Given the description of an element on the screen output the (x, y) to click on. 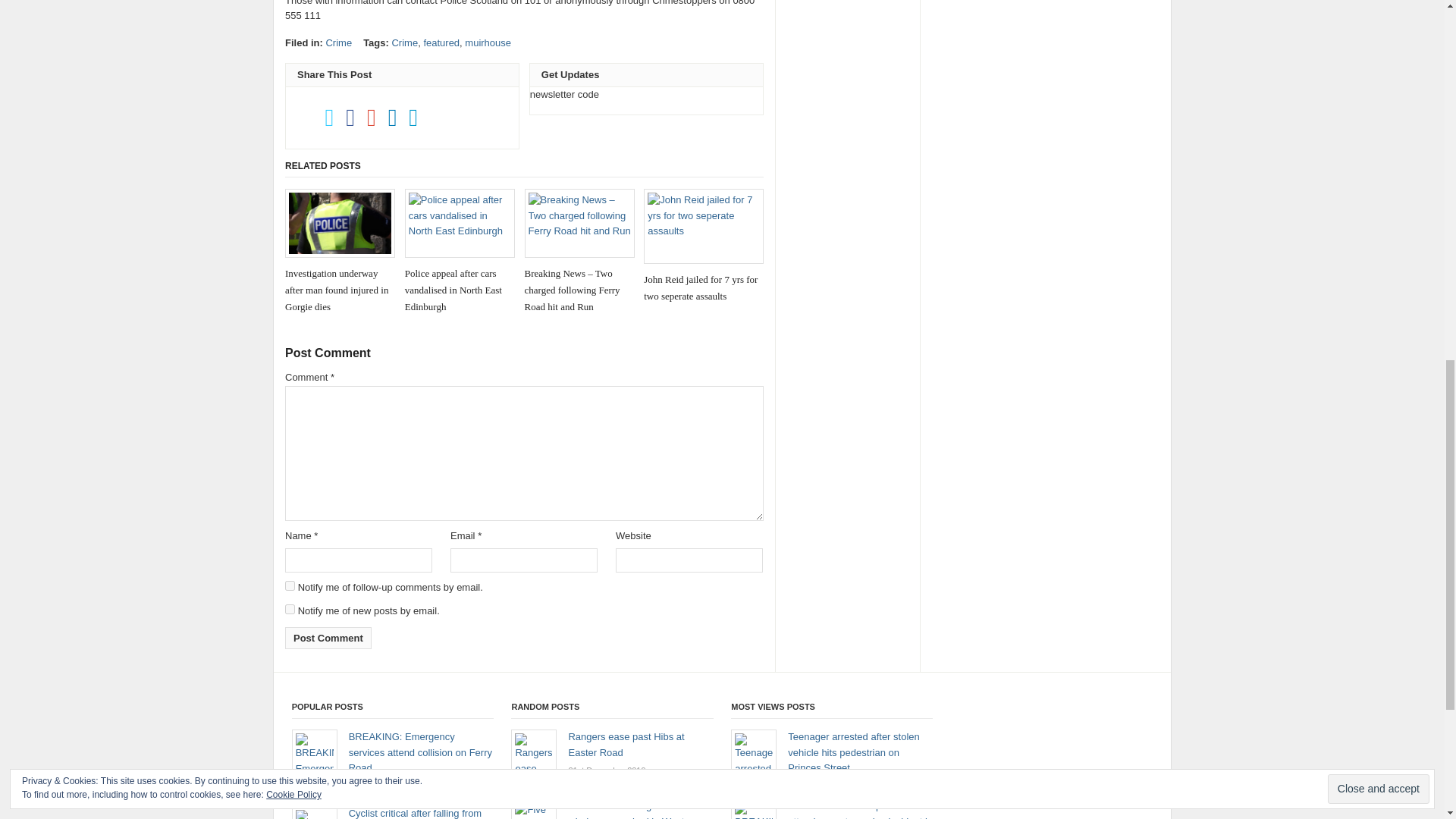
subscribe (290, 609)
muirhouse (487, 42)
Post Comment (328, 638)
Crime (404, 42)
Crime (338, 42)
Police appeal after cars vandalised in North East Edinburgh (459, 252)
BREAKING: Emergency services attend collision on Ferry Road (420, 752)
Rangers ease past Hibs at Easter Road (625, 744)
Post Comment (328, 638)
featured (441, 42)
John Reid jailed for 7 yrs for two seperate assaults (702, 246)
